Given the description of an element on the screen output the (x, y) to click on. 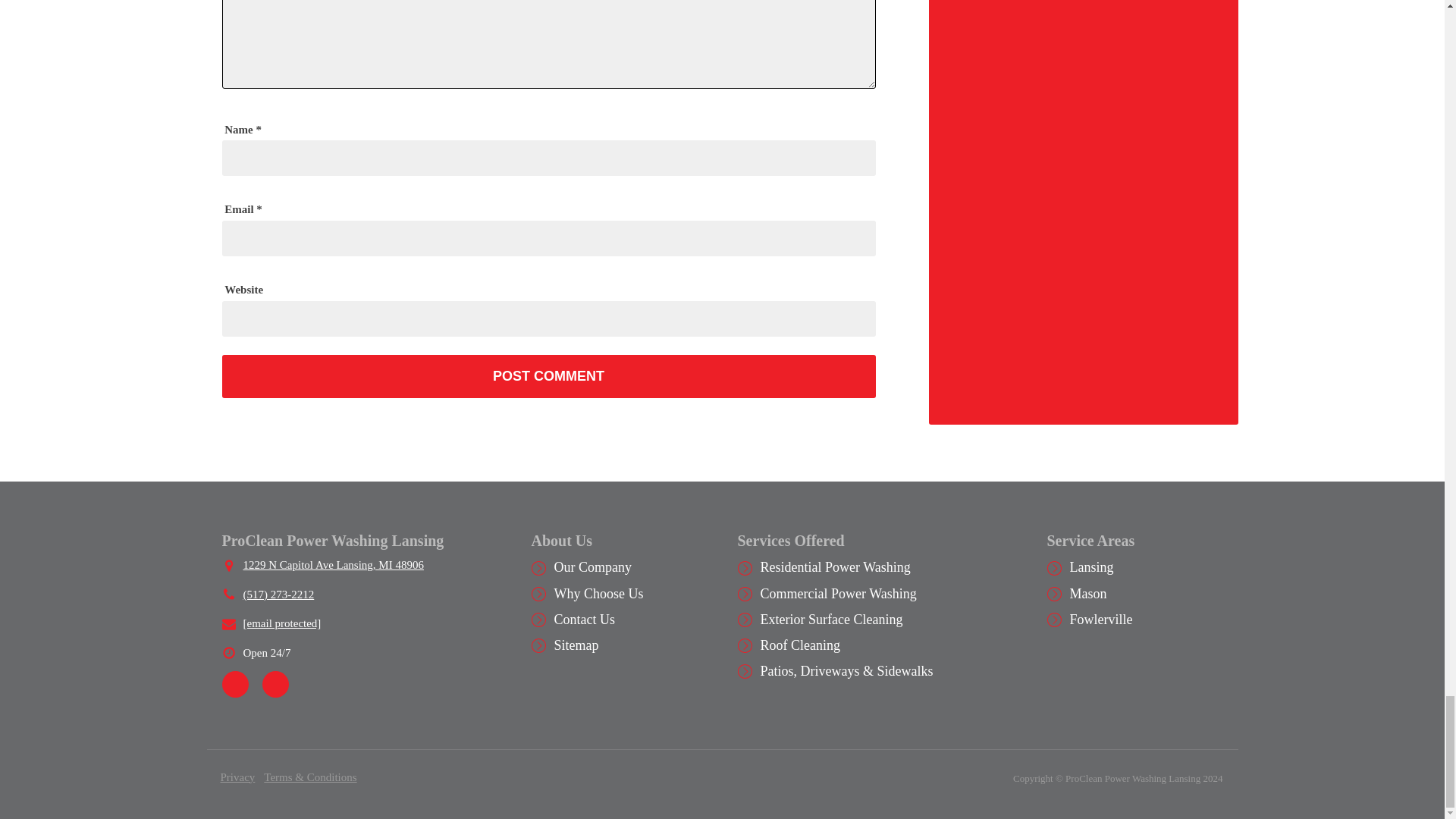
Our Company (592, 566)
1229 N Capitol Ave Lansing, MI 48906 (333, 565)
Post Comment (548, 376)
Why Choose Us (598, 593)
Post Comment (548, 376)
